Given the description of an element on the screen output the (x, y) to click on. 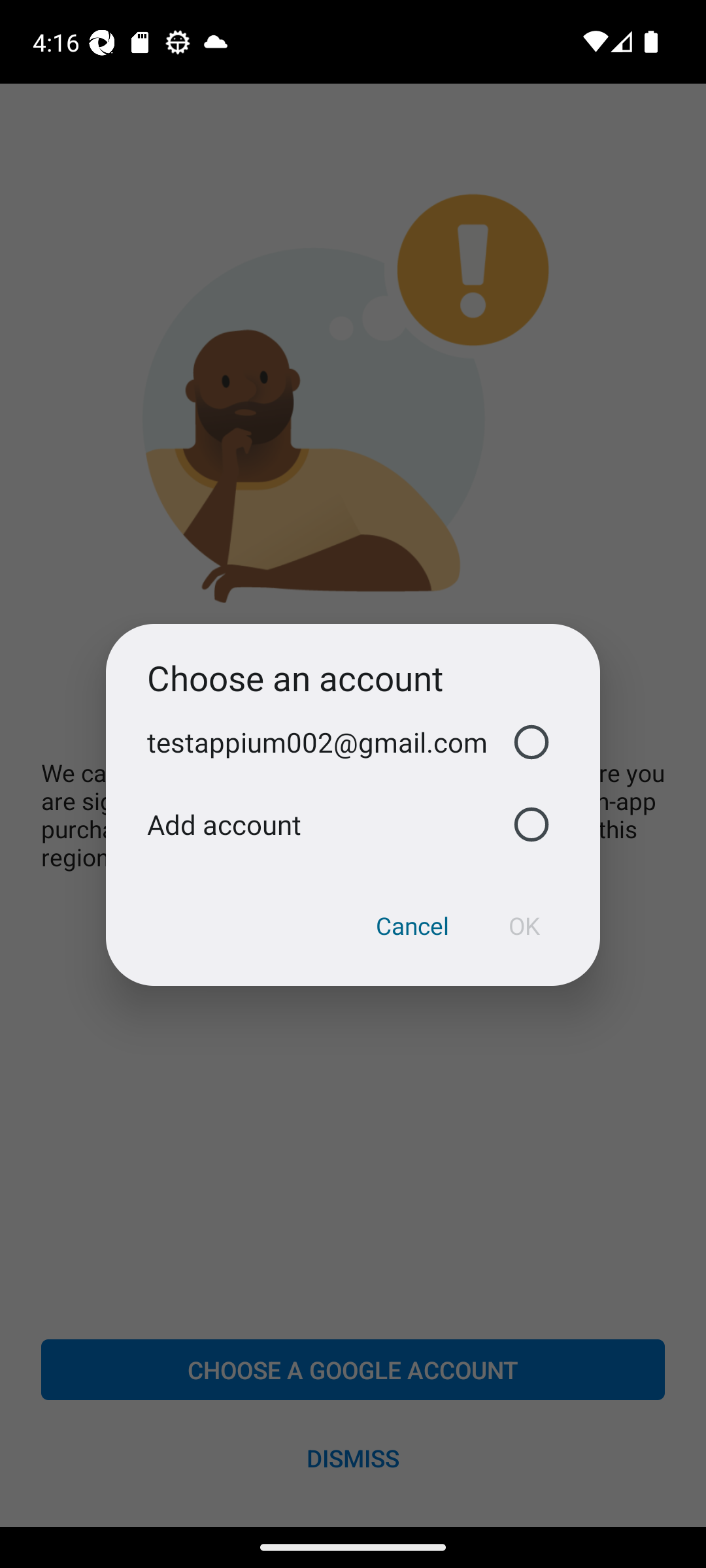
testappium002@gmail.com (352, 742)
Add account (352, 824)
Cancel (412, 925)
OK (523, 925)
